Given the description of an element on the screen output the (x, y) to click on. 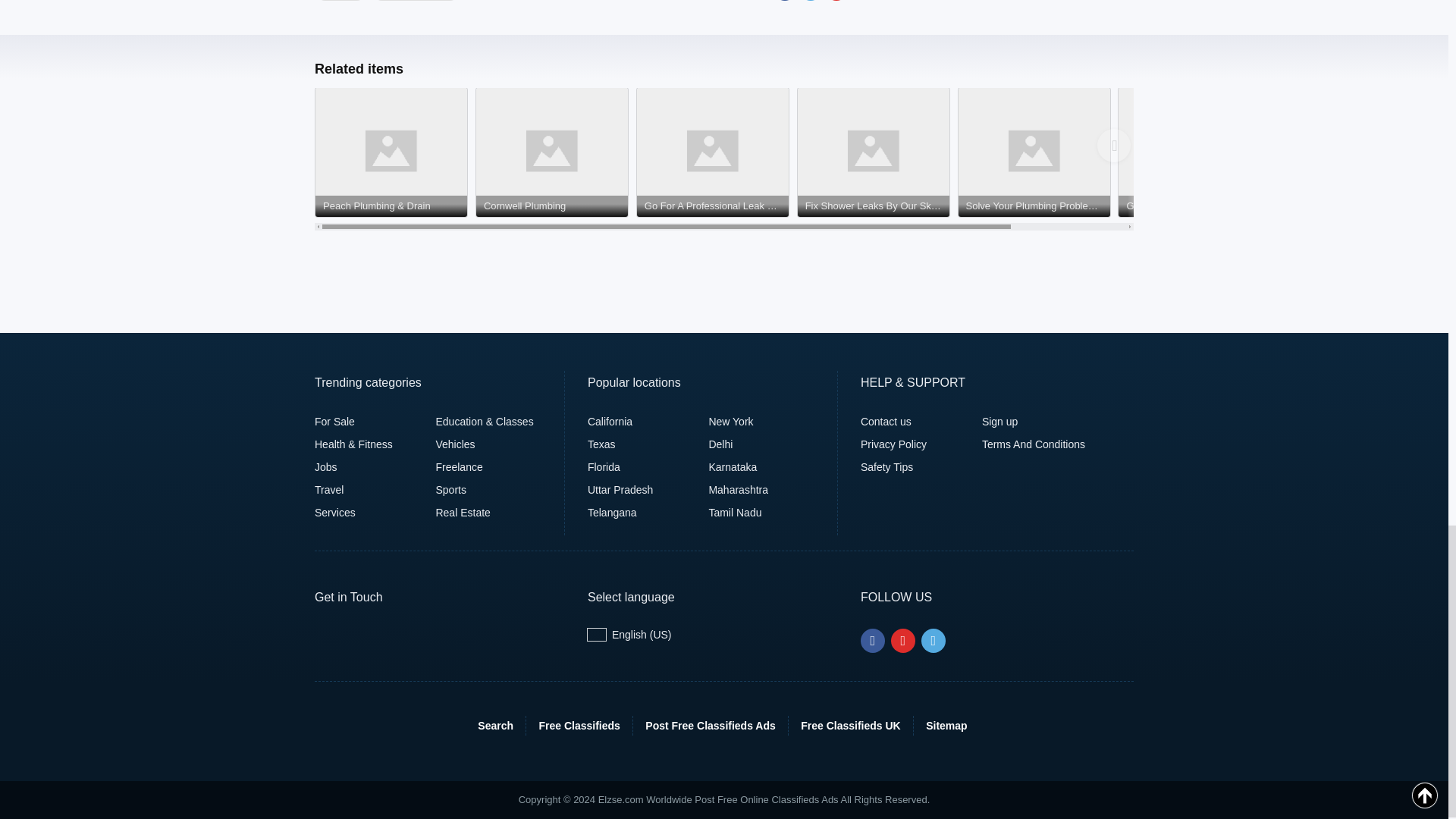
Follow us (932, 640)
Go For A Professional Leak Detection Logan With Us! (713, 205)
Follow us on Facebook (872, 640)
Follow us on Pinterest (903, 640)
Cornwell Plumbing (551, 205)
